Given the description of an element on the screen output the (x, y) to click on. 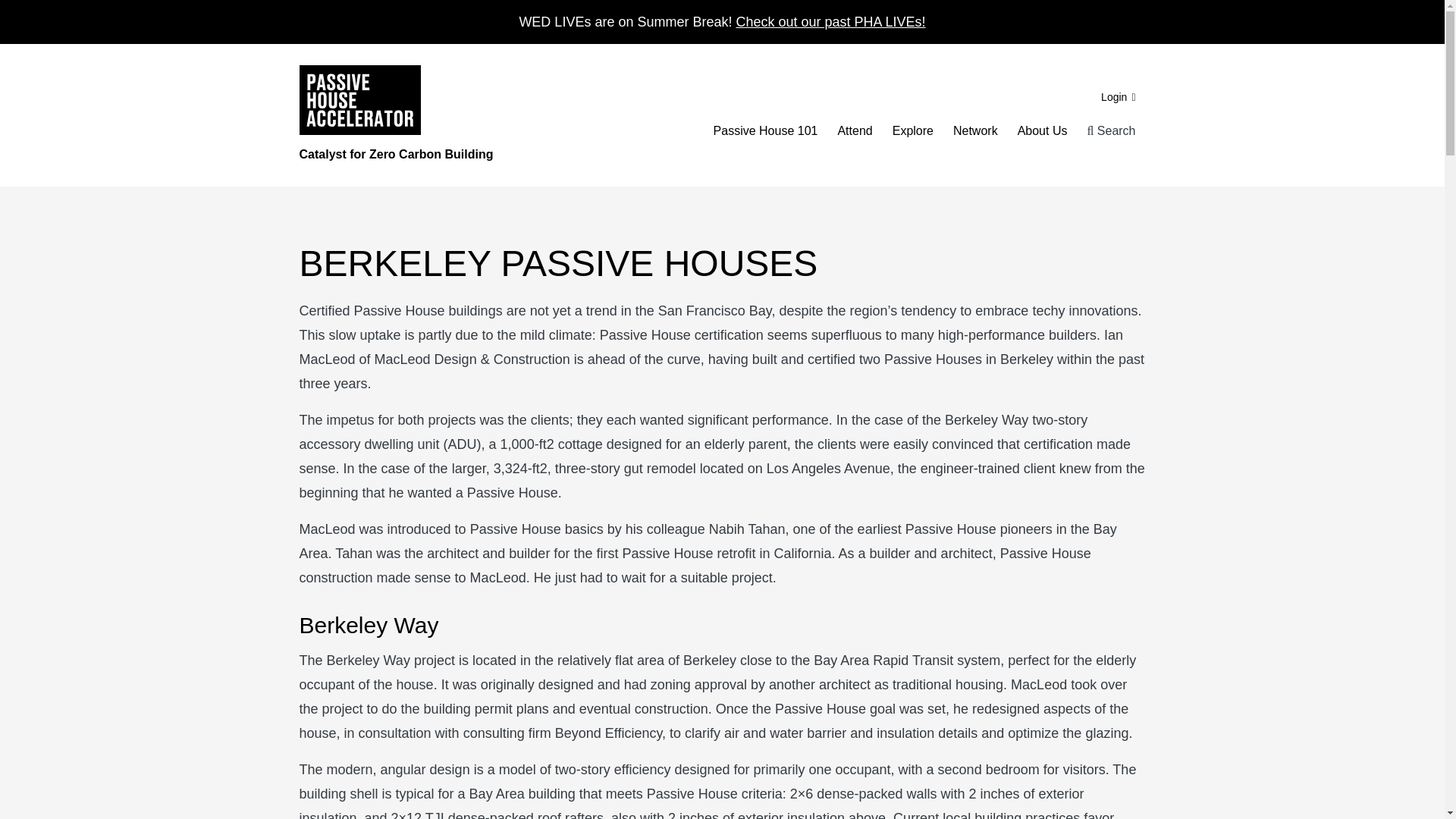
Network (975, 130)
Explore (912, 130)
Attend (854, 130)
Search (1110, 130)
About Us (1042, 130)
Passive House 101 (765, 130)
Login (1117, 97)
Check out our past PHA LIVEs! (829, 21)
